Given the description of an element on the screen output the (x, y) to click on. 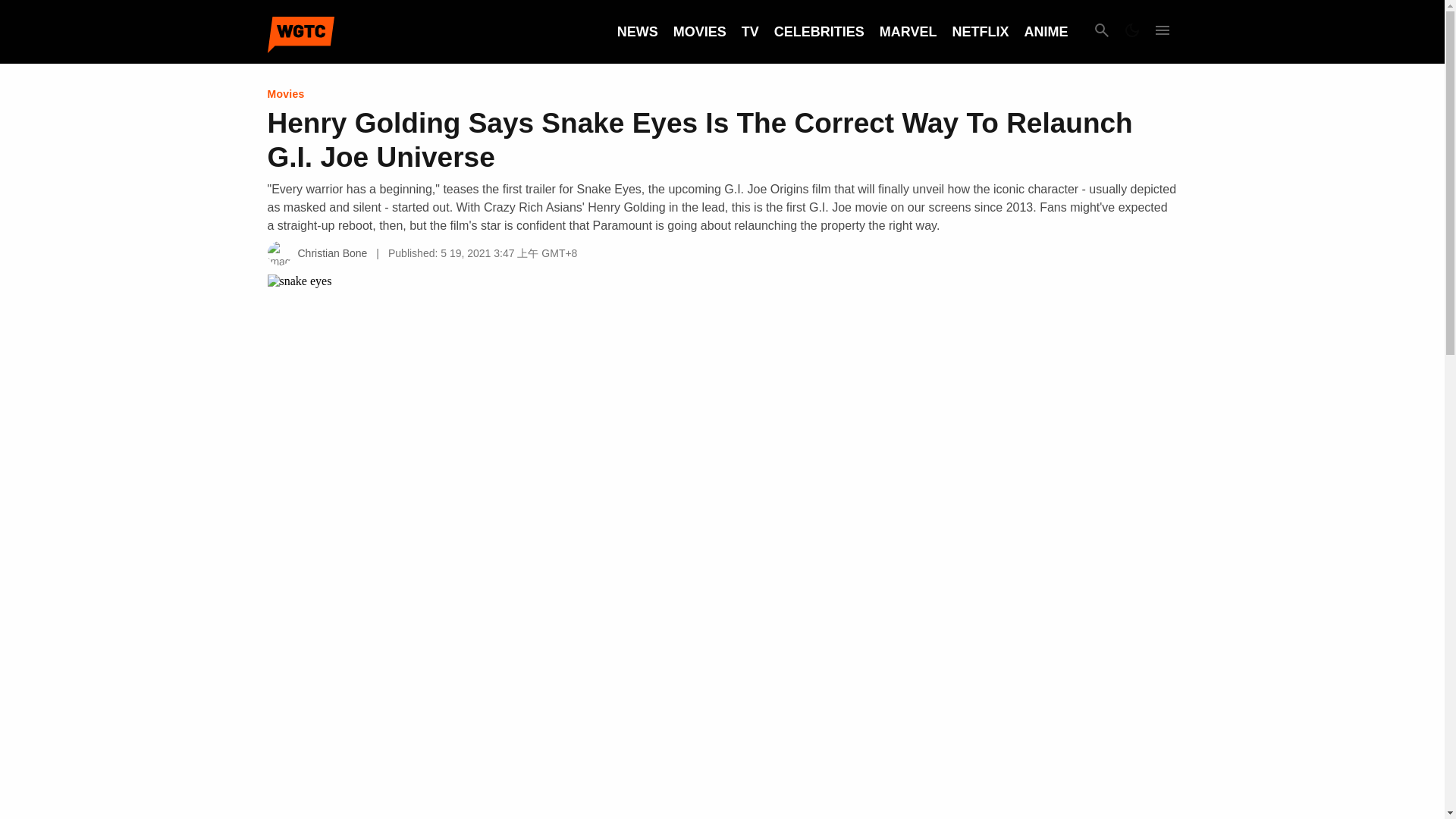
TV (749, 31)
ANIME (1045, 31)
Dark Mode (1131, 31)
MARVEL (908, 31)
NEWS (637, 31)
Search (1101, 31)
NETFLIX (980, 31)
CELEBRITIES (819, 31)
MOVIES (699, 31)
Expand Menu (1161, 31)
